Given the description of an element on the screen output the (x, y) to click on. 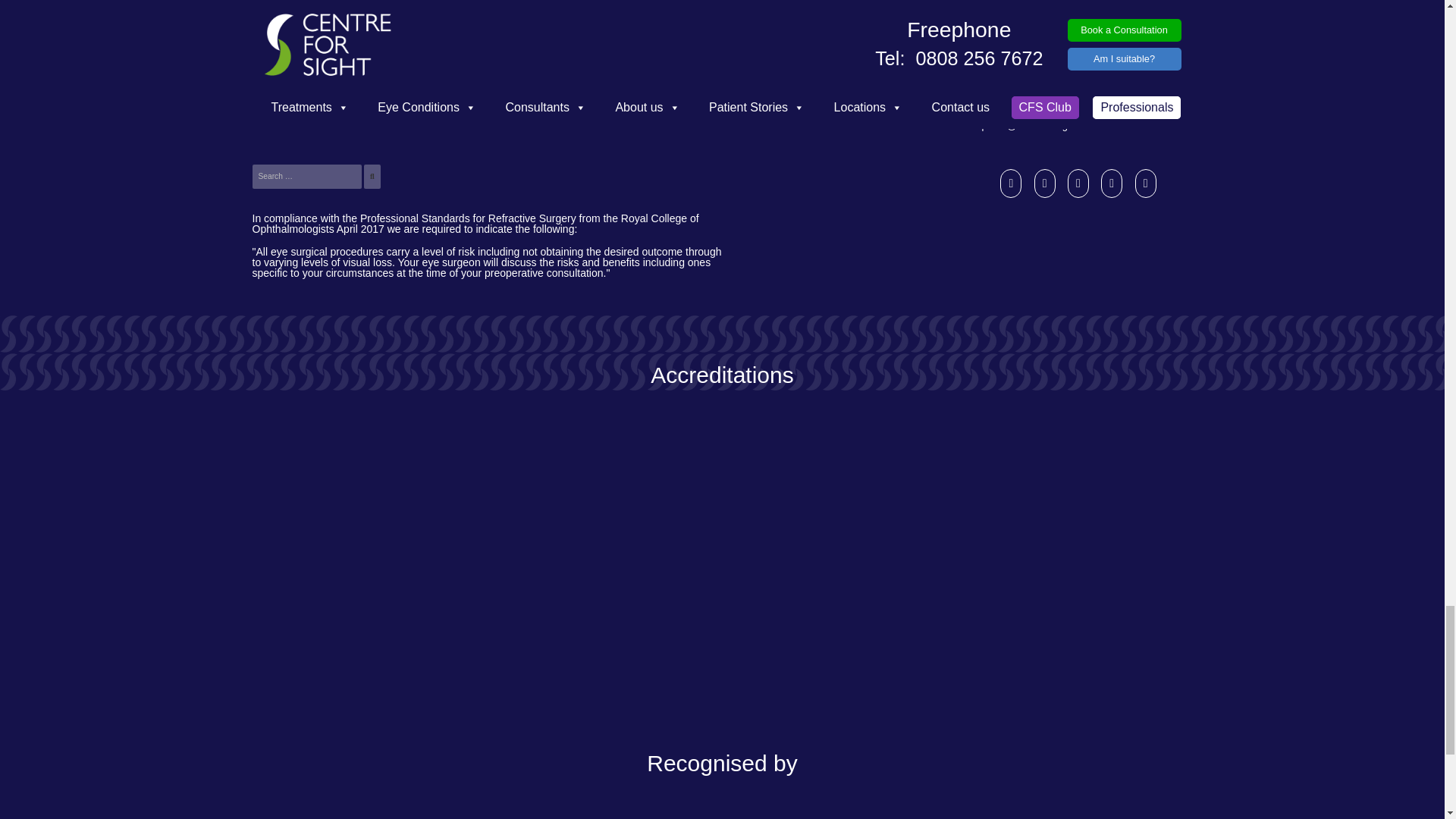
LinkedIn (1077, 182)
Search for: (306, 176)
Twitter (1111, 182)
Instagram (1010, 182)
Facebook (1044, 182)
